Given the description of an element on the screen output the (x, y) to click on. 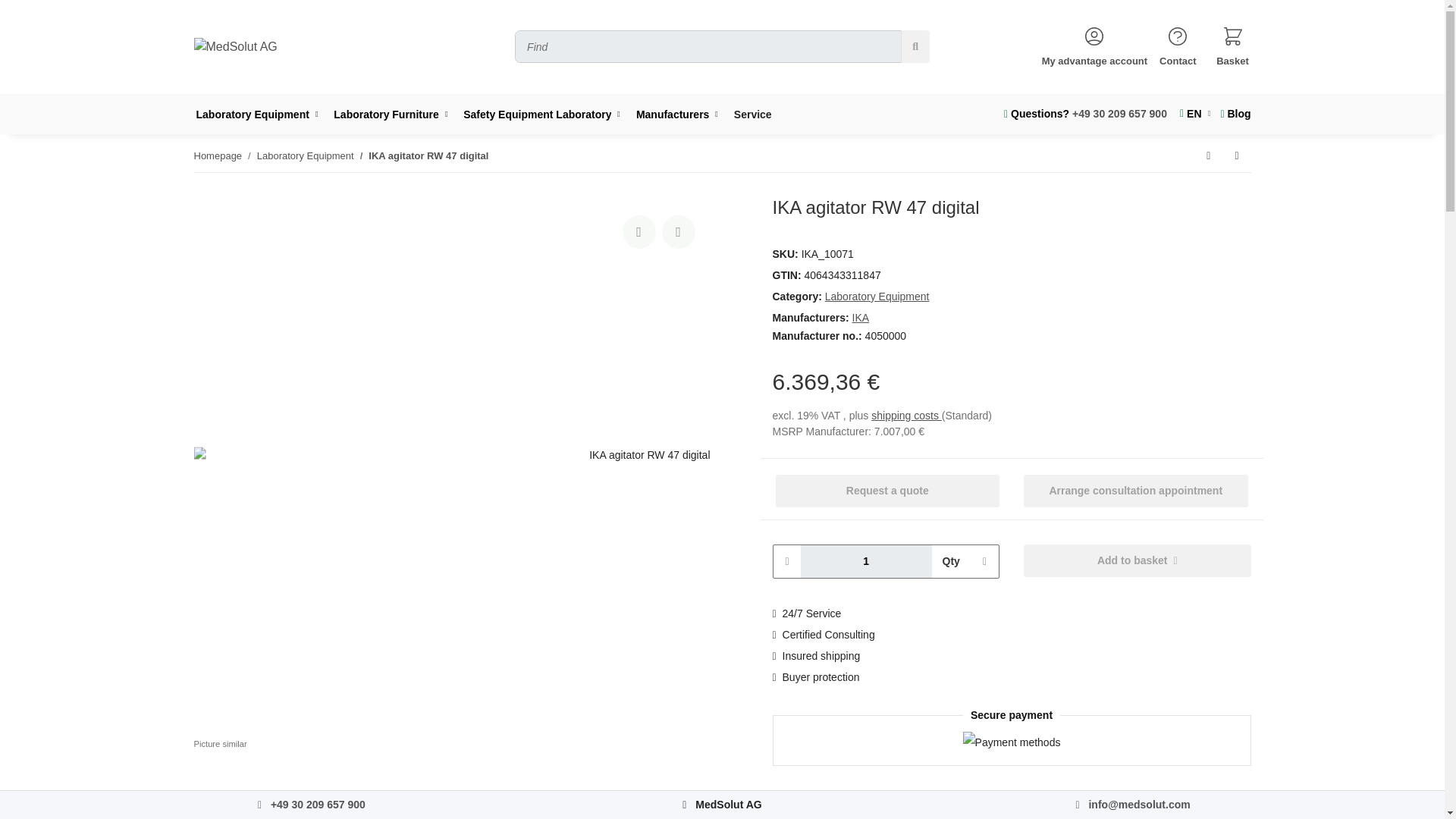
Basket (1232, 46)
Laboratory Furniture (396, 115)
Laboratory Equipment (262, 115)
Service (758, 115)
MedSolut AG (235, 46)
1 (865, 561)
My advantage account (1094, 46)
Contact (1177, 46)
Manufacturers (682, 115)
Laboratory Equipment (262, 115)
Laboratory Equipment (262, 115)
Safety Equipment Laboratory (547, 115)
